Given the description of an element on the screen output the (x, y) to click on. 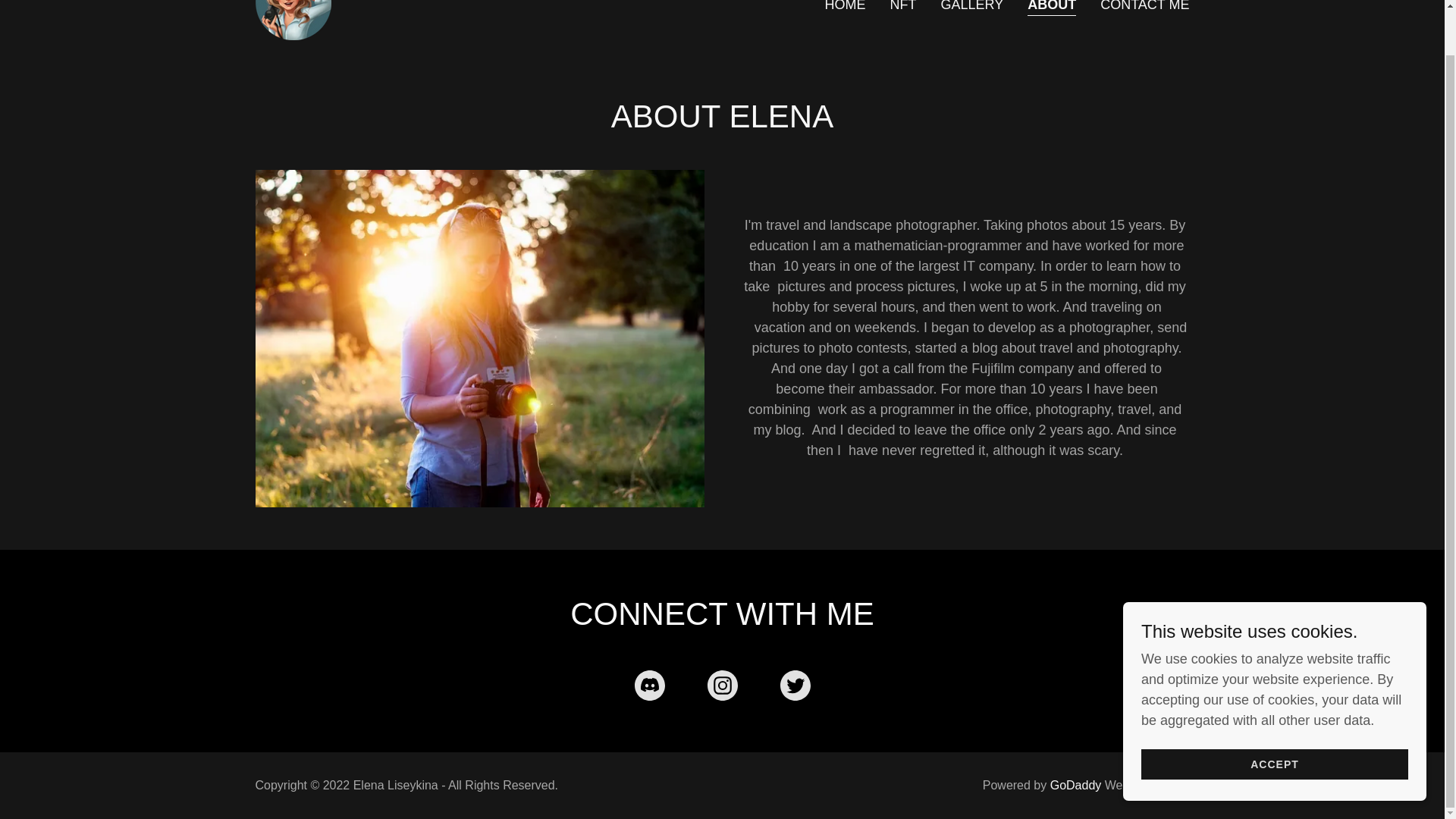
ACCEPT (1274, 716)
GoDaddy (1075, 784)
CONTACT ME (1144, 8)
NFT (902, 8)
Elena Liseykina (292, 4)
HOME (844, 8)
GALLERY (971, 8)
ABOUT (1051, 7)
